Given the description of an element on the screen output the (x, y) to click on. 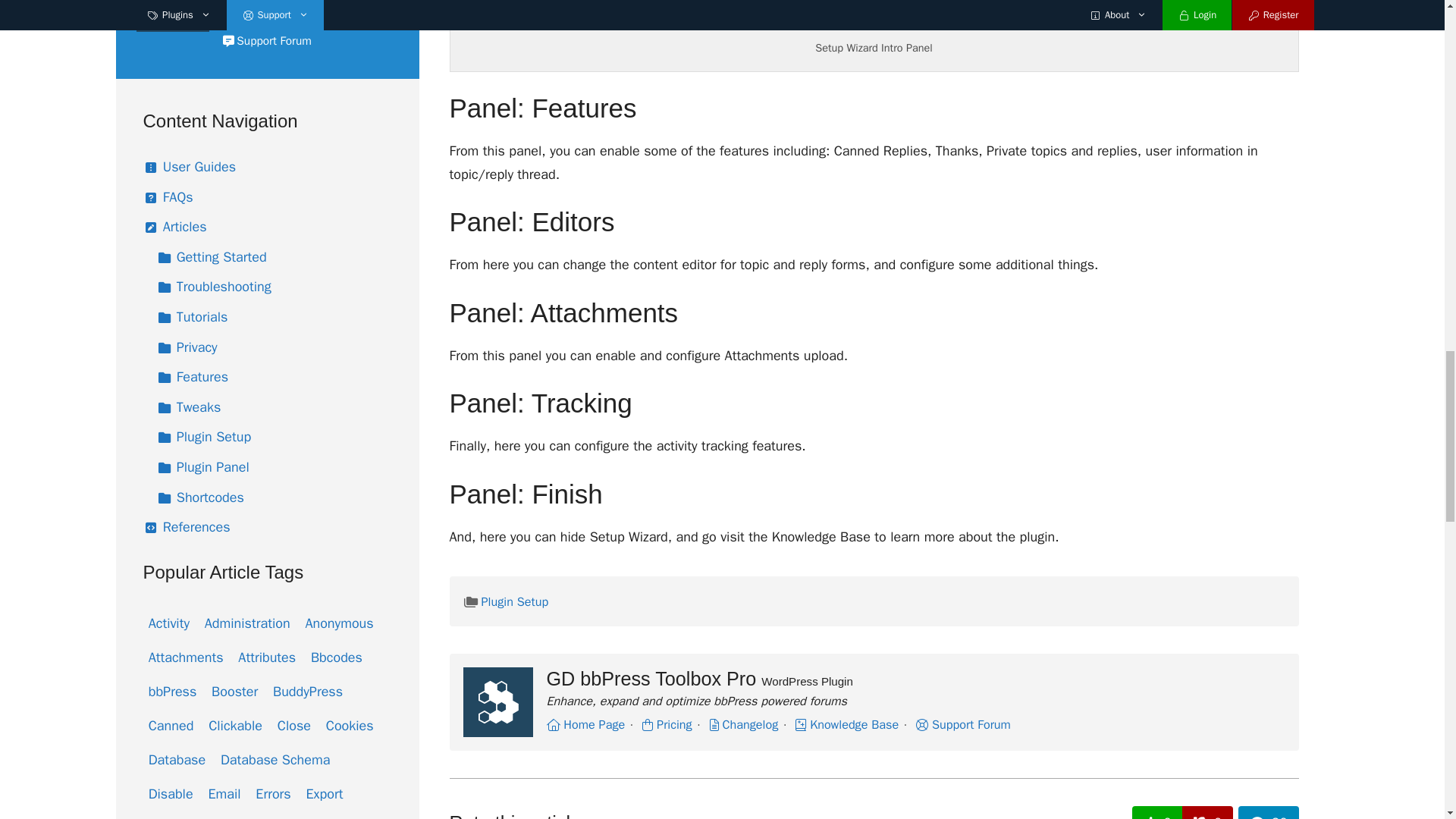
Helpful count (1157, 812)
Not helpful count (1207, 812)
Number of views (1268, 812)
GD bbPress Toolbox Pro (497, 702)
